Given the description of an element on the screen output the (x, y) to click on. 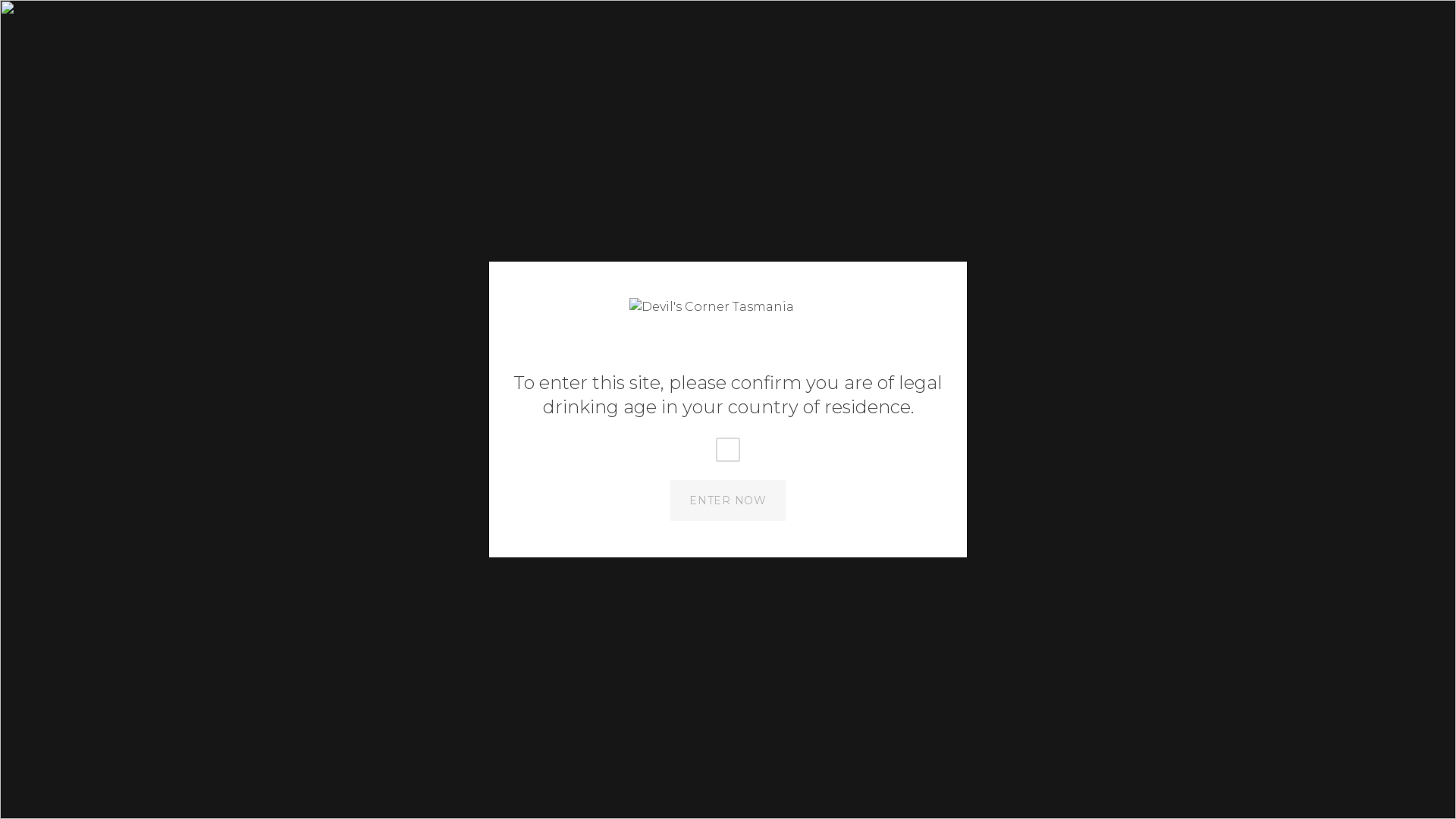
ENTER NOW Element type: text (727, 500)
CONTACT US Element type: text (1211, 18)
Contact Us Element type: text (398, 715)
Directions Element type: text (302, 715)
EVENTS Element type: text (754, 132)
OUR WINES Element type: text (595, 132)
Zoom in Element type: hover (1224, 766)
VISIT Element type: text (516, 132)
ABOUT Element type: text (680, 132)
SHOP Element type: text (242, 18)
Zoom out Element type: hover (1224, 788)
REWARDS Element type: text (923, 132)
SHOP Element type: text (1209, 72)
CONTACT Element type: text (836, 132)
